Given the description of an element on the screen output the (x, y) to click on. 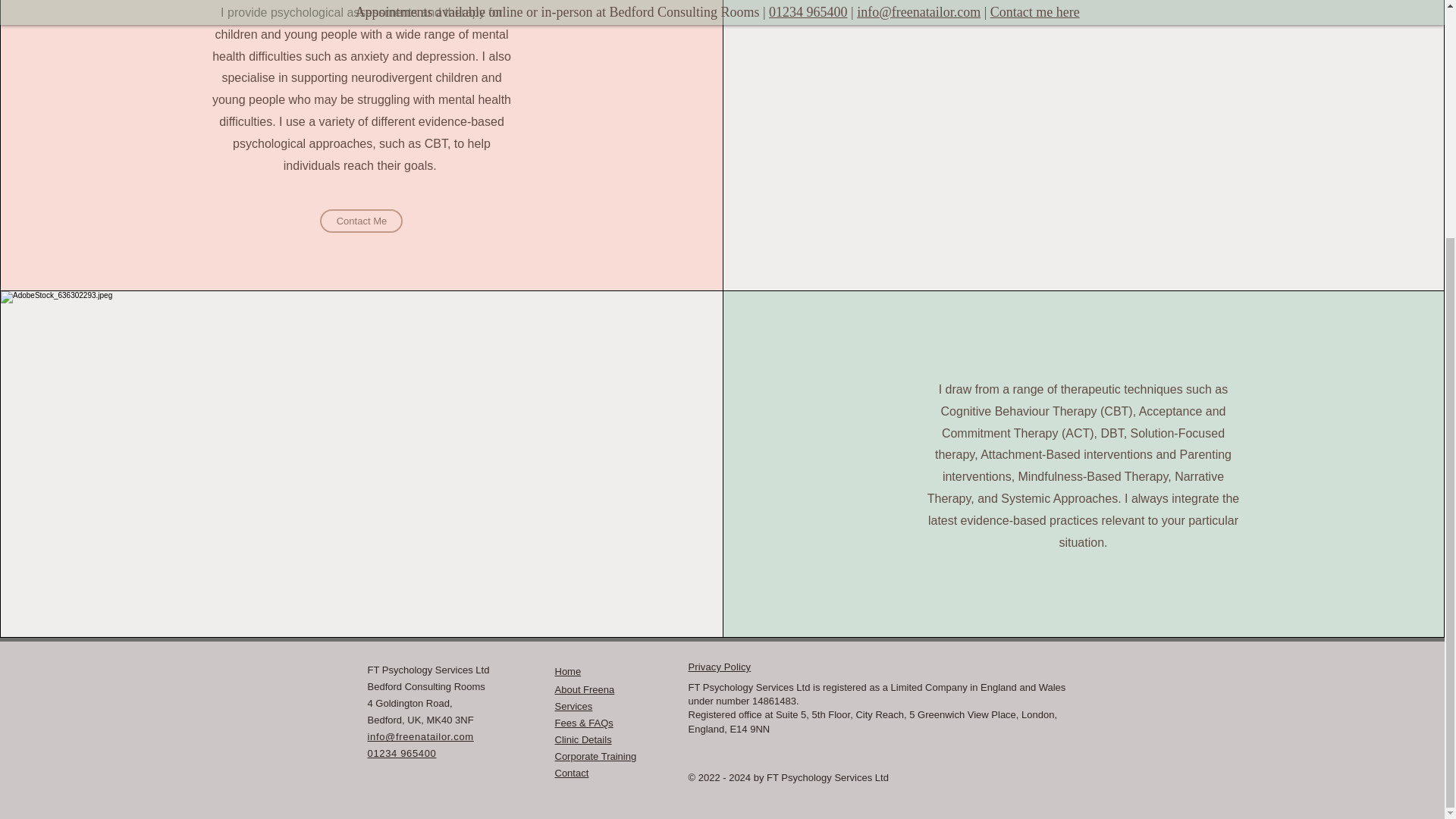
01234 965400 (400, 753)
Privacy Policy (719, 666)
Services (573, 706)
Home (567, 670)
Contact (571, 772)
Corporate Training (595, 756)
Clinic Details (582, 739)
Contact Me (361, 220)
Abou (566, 688)
t Freena (596, 688)
